Given the description of an element on the screen output the (x, y) to click on. 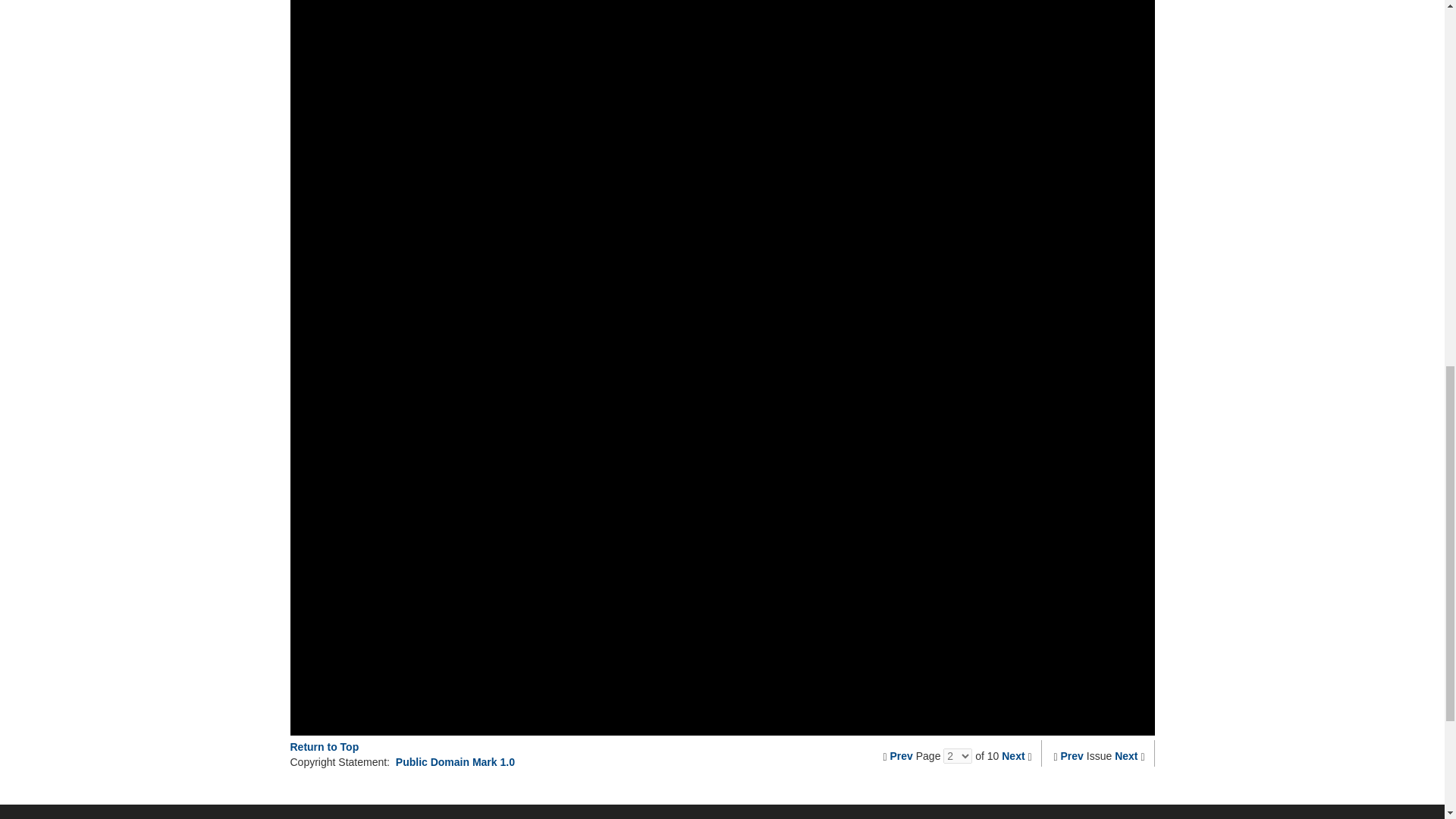
Next (1013, 756)
Prev (1072, 756)
Return to Top (323, 746)
Prev (900, 756)
Next (1126, 756)
Public Domain Mark 1.0 (455, 761)
